Given the description of an element on the screen output the (x, y) to click on. 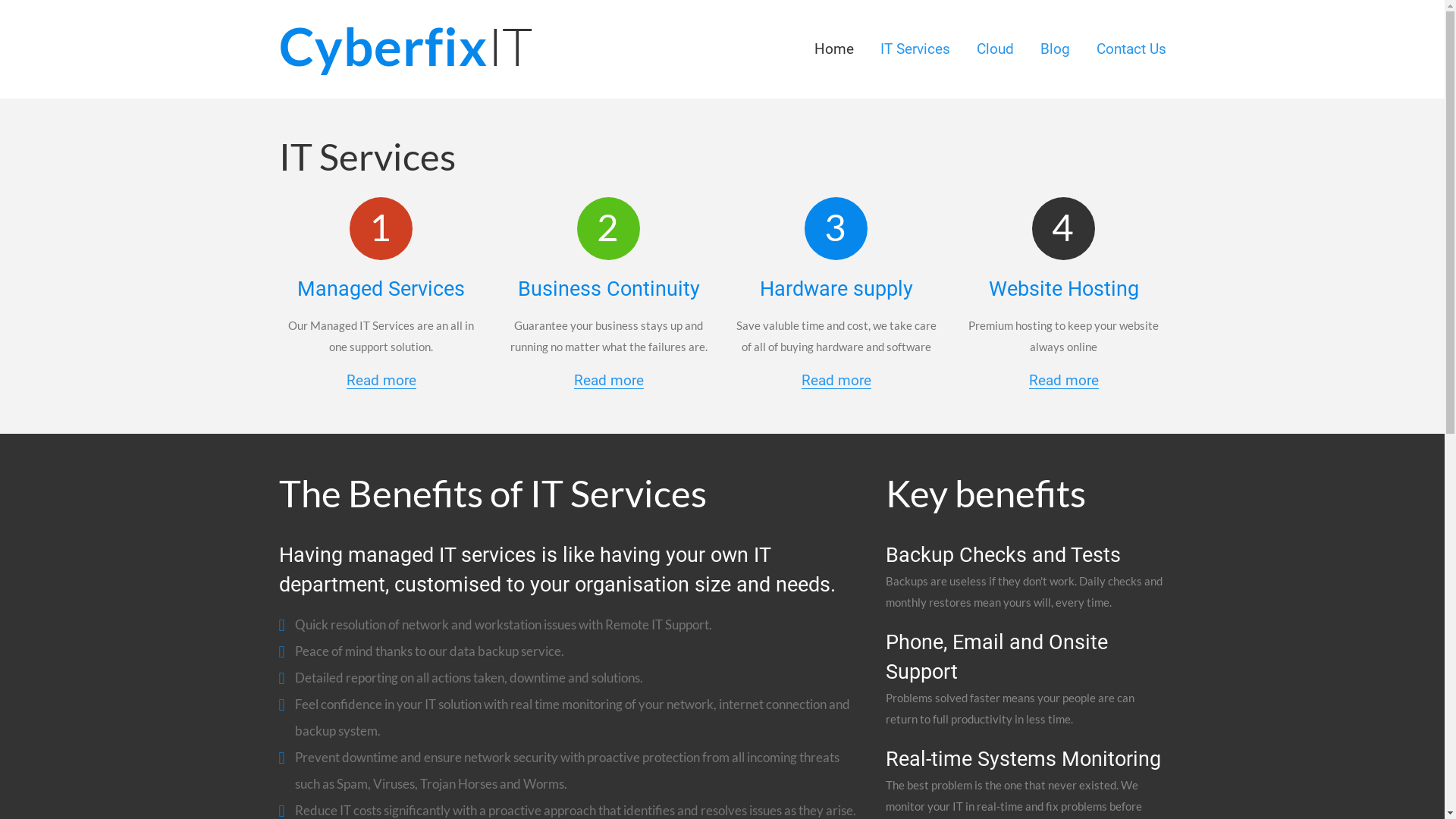
Read more Element type: text (835, 381)
Read more Element type: text (608, 381)
Read more Element type: text (380, 381)
C y b e r f i x IT Element type: text (404, 45)
Read more Element type: text (1063, 381)
Home Element type: text (833, 48)
Contact Us Element type: text (1131, 48)
Blog Element type: text (1055, 48)
IT Services Element type: text (914, 48)
Cloud Element type: text (994, 48)
